Given the description of an element on the screen output the (x, y) to click on. 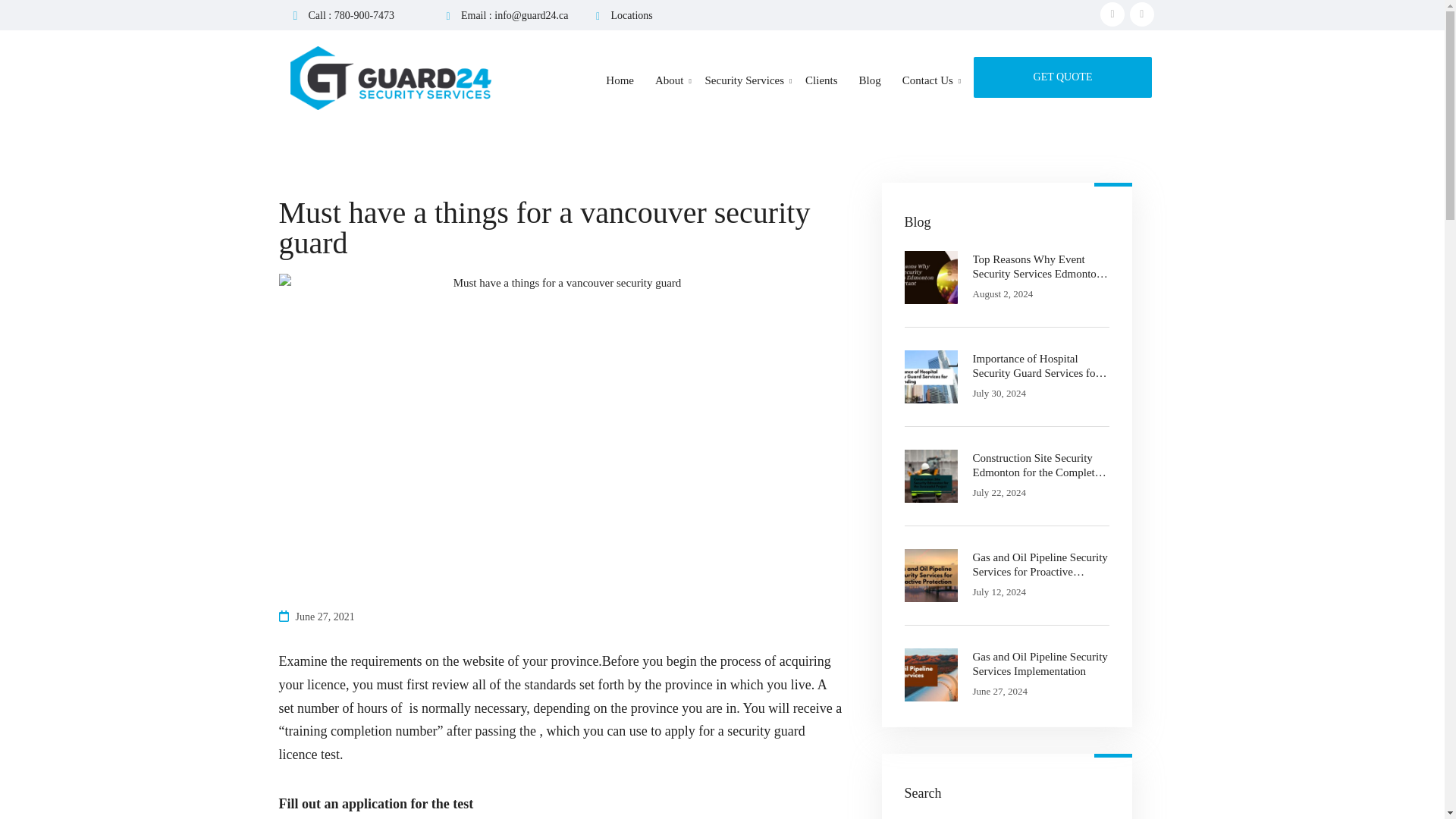
Contacts  (1062, 76)
Top Reasons Why Event Security Services Edmonton Important (1040, 266)
Locations (631, 15)
Security Services (744, 87)
Contact Us (927, 87)
Call : 780-900-7473 (350, 15)
GET QUOTE (1062, 76)
Call : 780-900-7473 (350, 15)
Locations (631, 15)
